Given the description of an element on the screen output the (x, y) to click on. 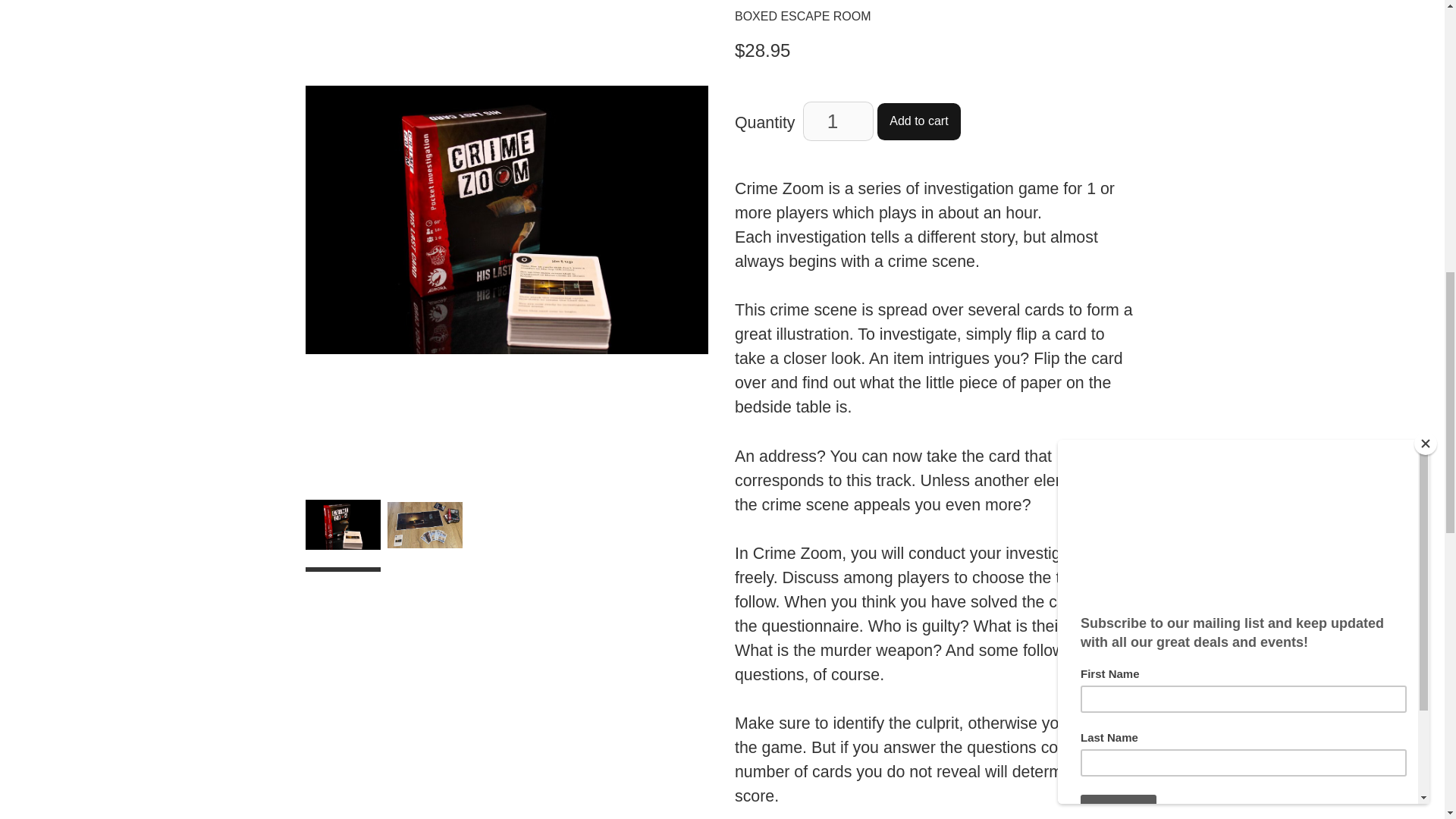
Add to cart (918, 121)
1 (837, 121)
